Given the description of an element on the screen output the (x, y) to click on. 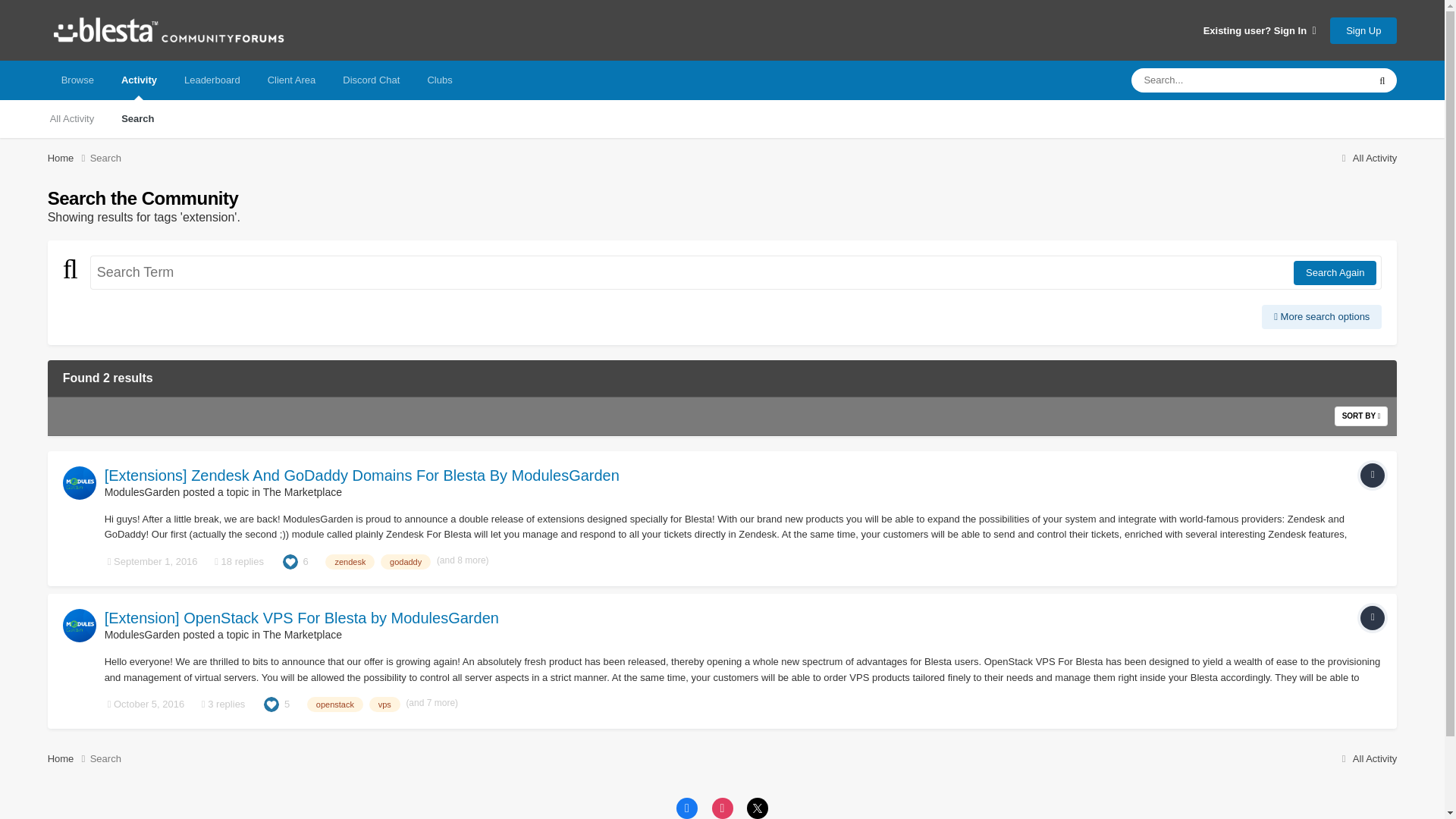
Go to ModulesGarden's profile (79, 482)
More search options (1321, 316)
Client Area (291, 79)
Search (105, 157)
All Activity (1366, 157)
All Activity (71, 118)
Existing user? Sign In   (1260, 30)
Search Again (1334, 273)
Browse (77, 79)
Activity (138, 79)
